Given the description of an element on the screen output the (x, y) to click on. 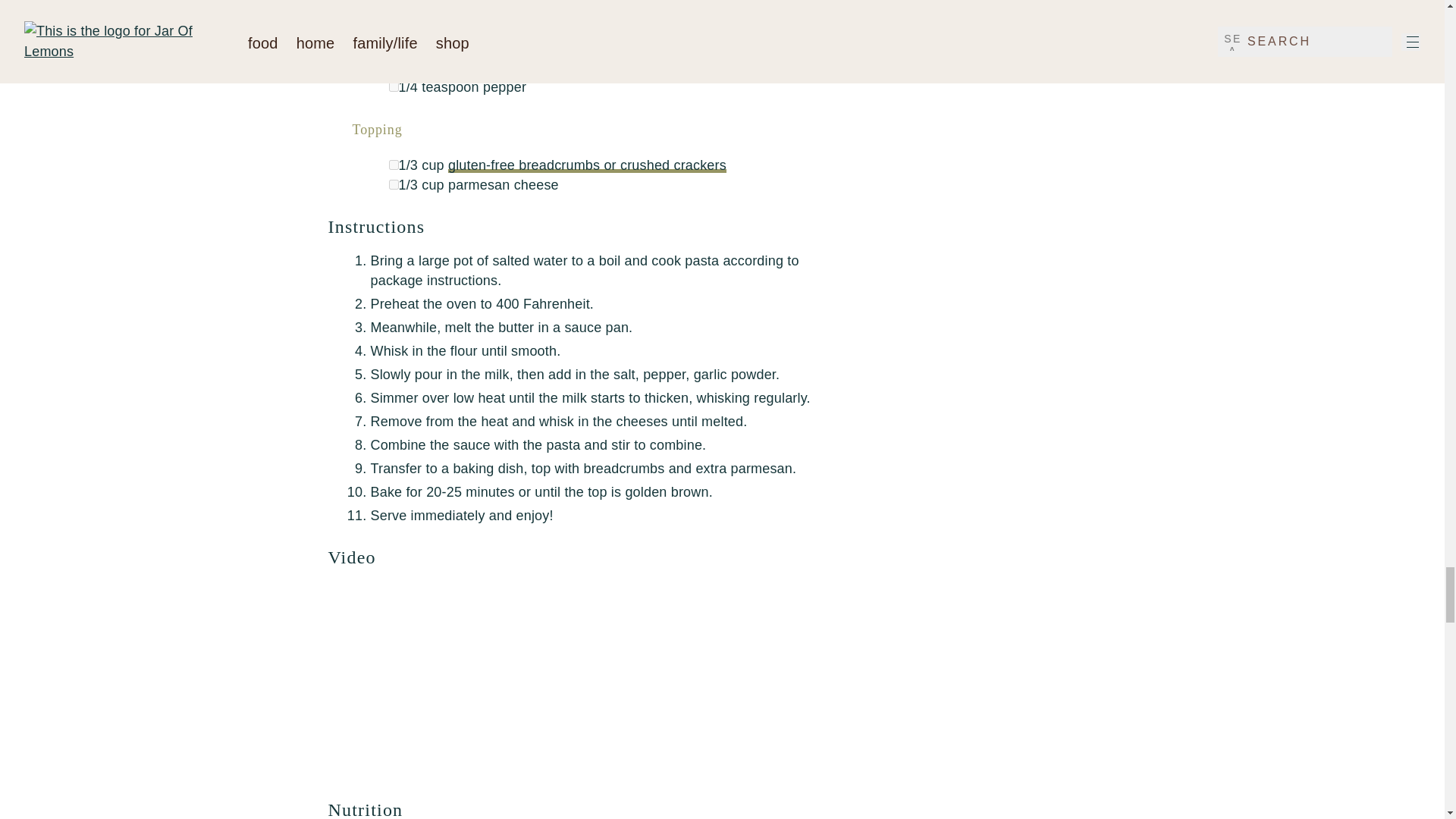
on (392, 184)
on (392, 27)
on (392, 86)
on (392, 164)
on (392, 67)
on (392, 47)
on (392, 8)
